Given the description of an element on the screen output the (x, y) to click on. 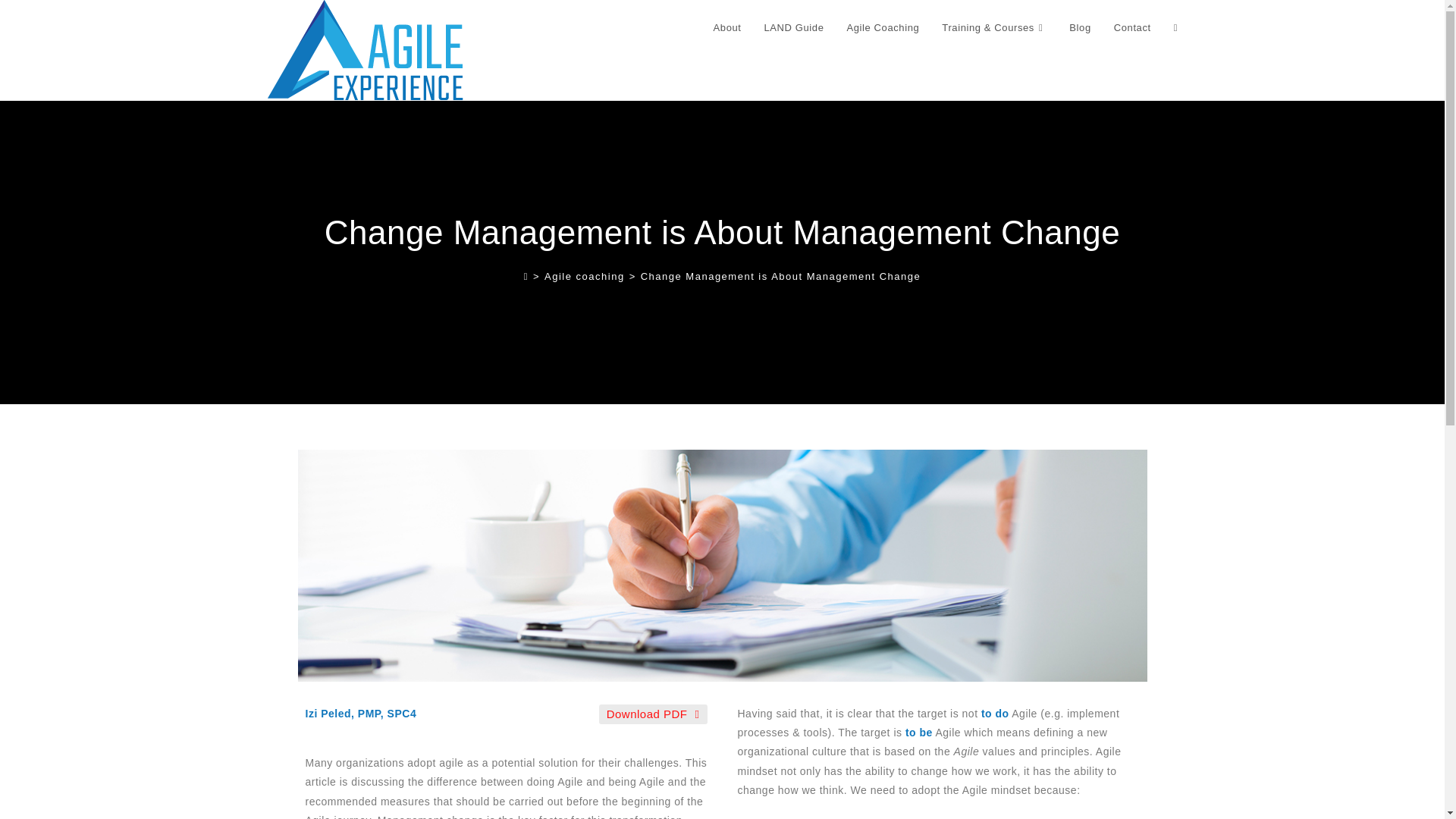
Agile coaching (584, 276)
Change Management is About Management Change (780, 276)
Download PDF (652, 713)
Agile Coaching (883, 28)
Contact (1131, 28)
About (726, 28)
LAND Guide (793, 28)
